Given the description of an element on the screen output the (x, y) to click on. 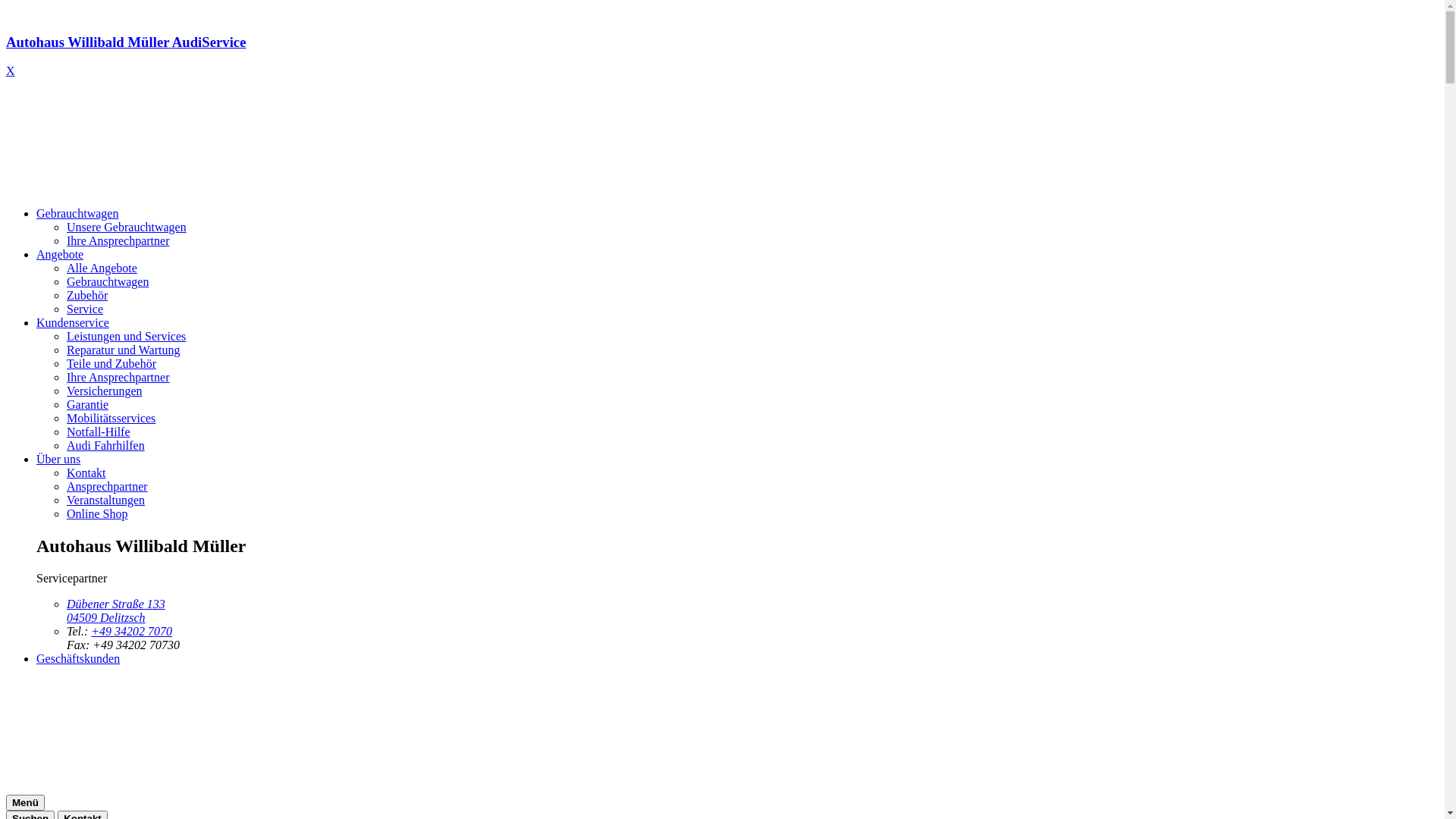
Garantie Element type: text (87, 404)
Audi Fahrhilfen Element type: text (105, 445)
Service Element type: text (84, 308)
Gebrauchtwagen Element type: text (107, 281)
Ansprechpartner Element type: text (106, 486)
Kontakt Element type: text (86, 472)
Alle Angebote Element type: text (101, 267)
+49 34202 7070 Element type: text (131, 630)
Unsere Gebrauchtwagen Element type: text (126, 226)
Reparatur und Wartung Element type: text (122, 349)
Leistungen und Services Element type: text (125, 335)
Kundenservice Element type: text (72, 322)
Online Shop Element type: text (96, 513)
Ihre Ansprechpartner Element type: text (117, 376)
Angebote Element type: text (59, 253)
Versicherungen Element type: text (104, 390)
Gebrauchtwagen Element type: text (77, 213)
X Element type: text (10, 70)
Ihre Ansprechpartner Element type: text (117, 240)
Veranstaltungen Element type: text (105, 499)
Notfall-Hilfe Element type: text (98, 431)
